Given the description of an element on the screen output the (x, y) to click on. 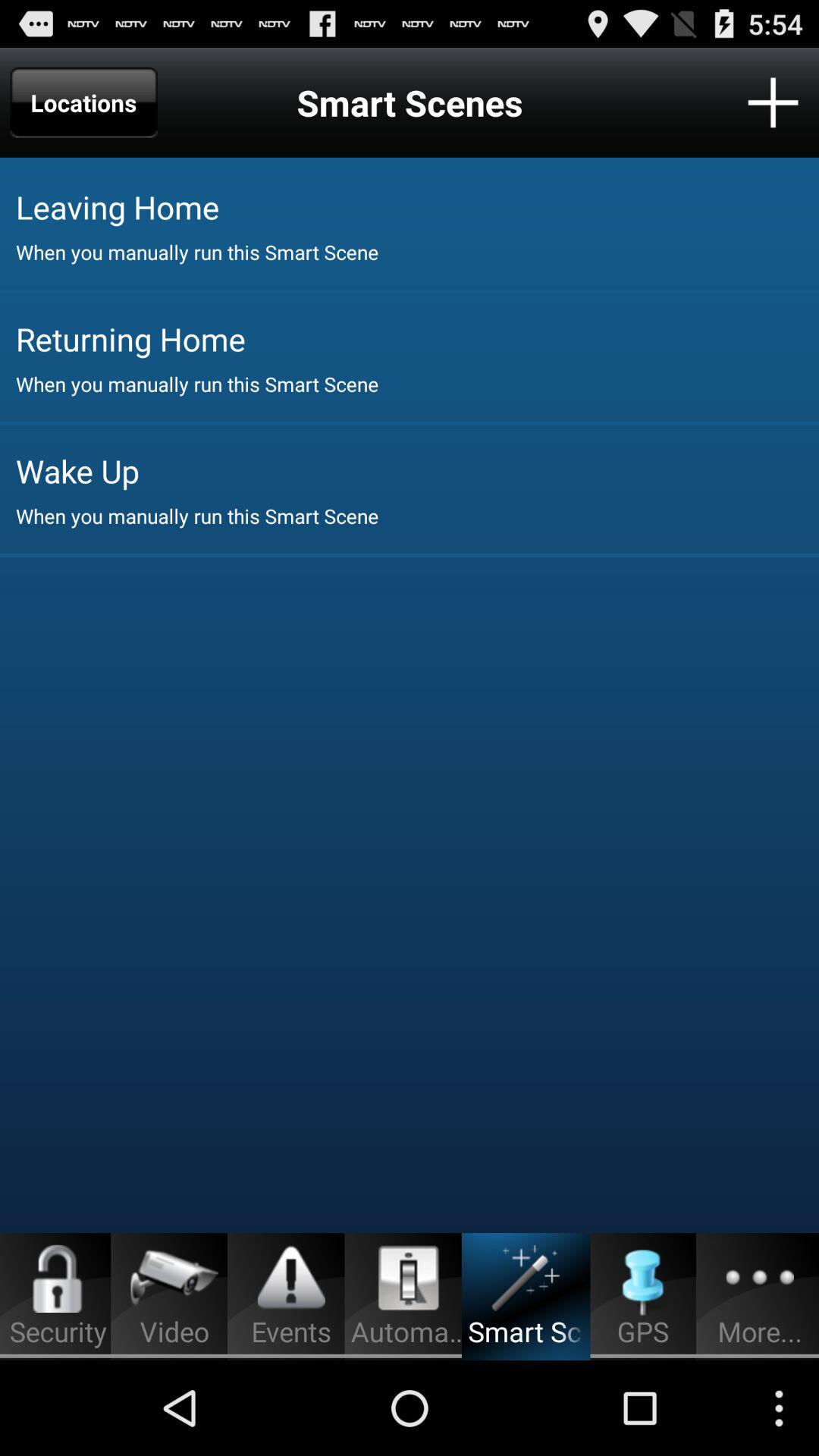
press the icon at the top right corner (773, 102)
